Given the description of an element on the screen output the (x, y) to click on. 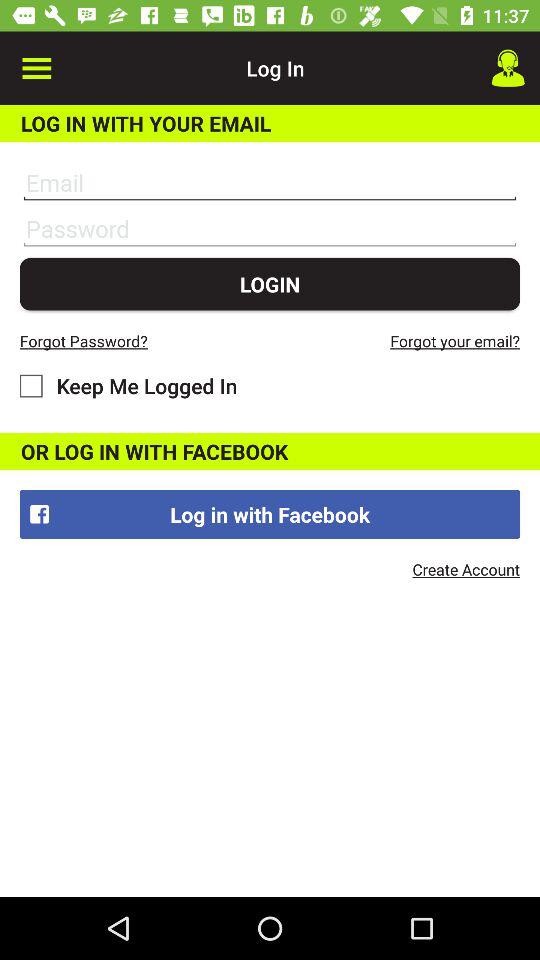
swipe to create account item (466, 569)
